Given the description of an element on the screen output the (x, y) to click on. 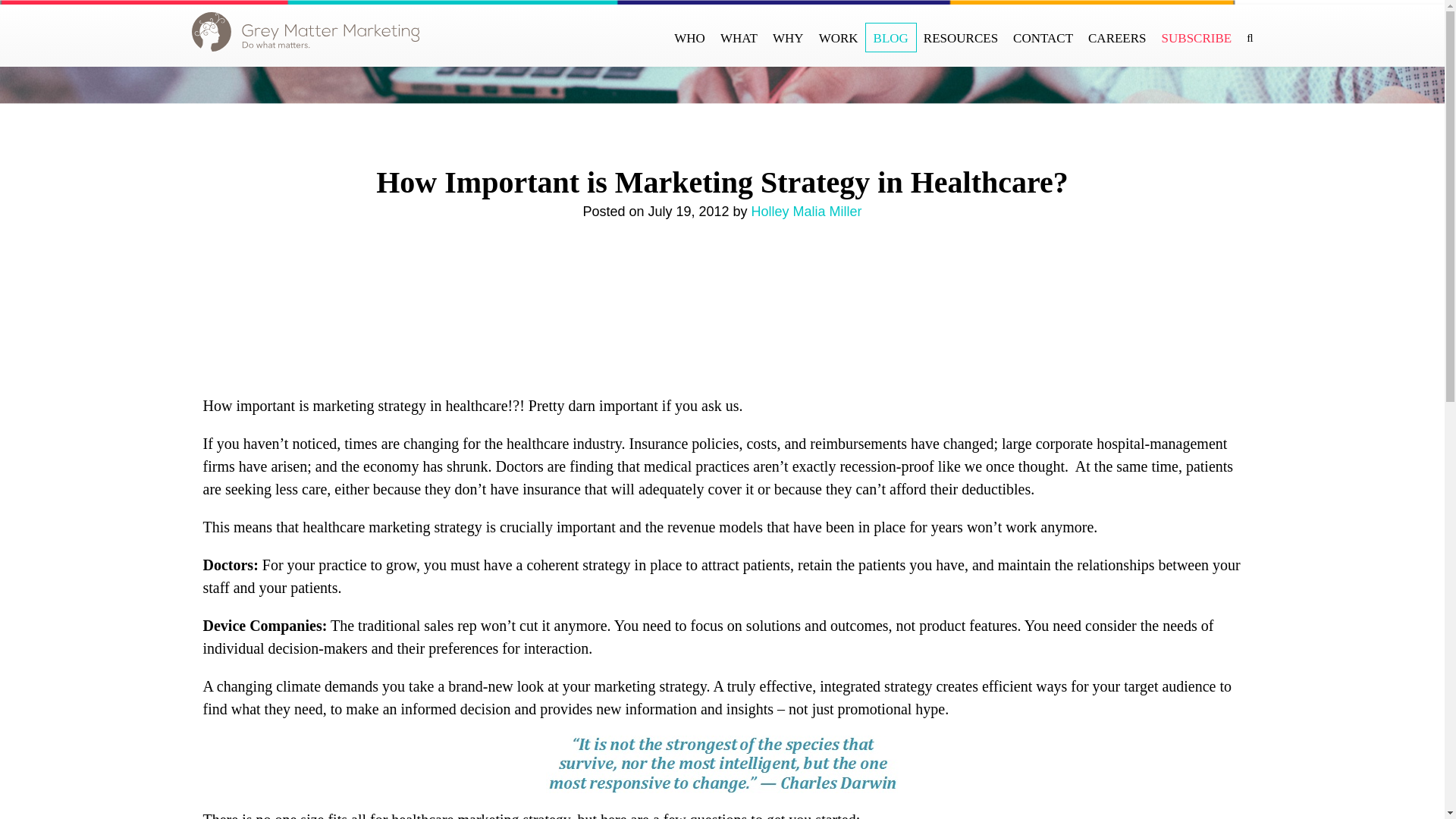
SUBSCRIBE (1197, 37)
BLOG (890, 37)
WHO (689, 37)
CAREERS (1117, 37)
CONTACT (1043, 37)
WORK (838, 37)
WHAT (739, 37)
Holley Malia Miller (806, 211)
quote (722, 764)
Posts by Holley Malia Miller (806, 211)
